Given the description of an element on the screen output the (x, y) to click on. 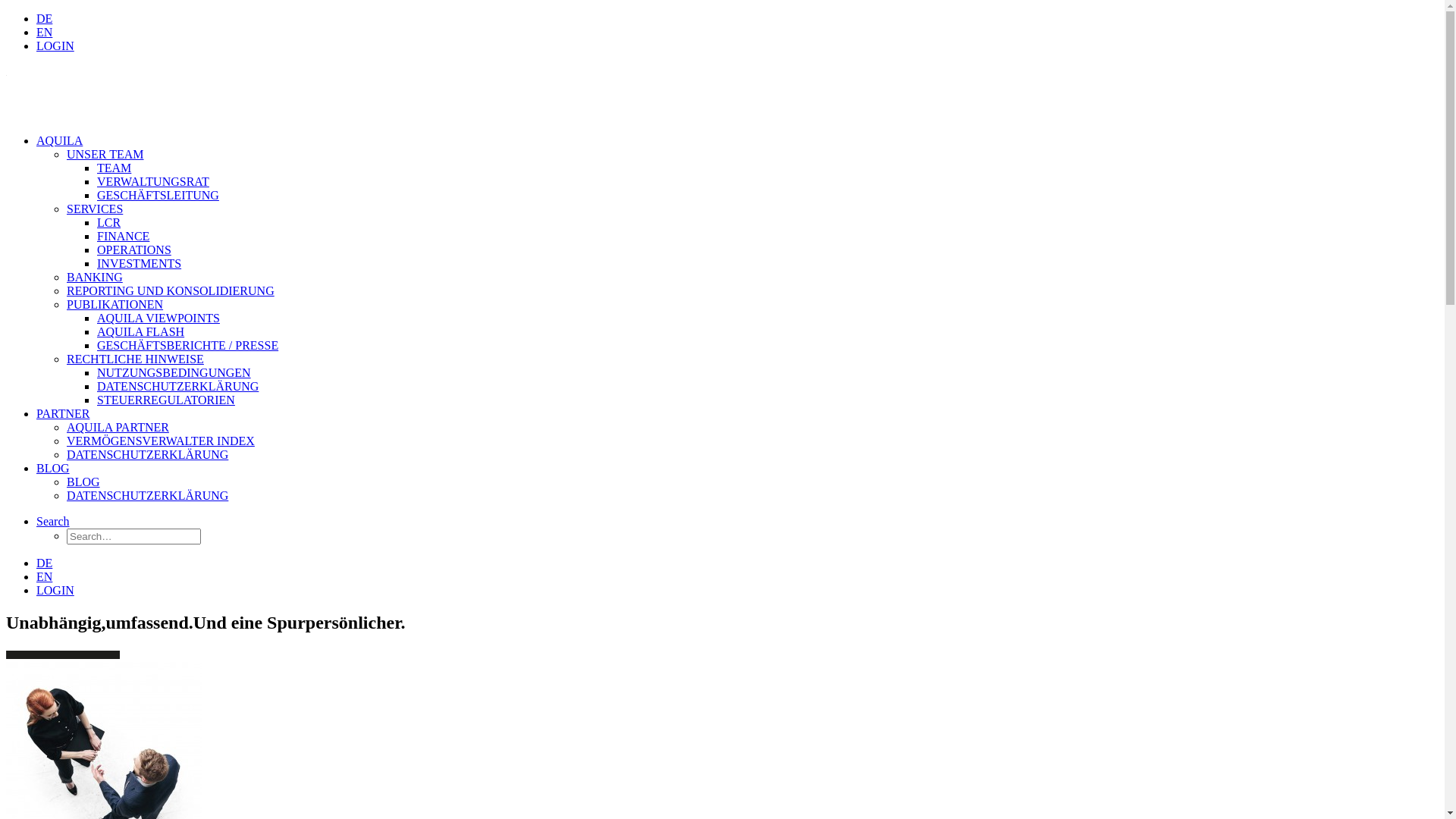
AQUILA FLASH Element type: text (140, 331)
Search for: Element type: hover (133, 536)
DE Element type: text (44, 18)
LCR Element type: text (108, 222)
FINANCE Element type: text (123, 235)
TEAM Element type: text (114, 167)
UNSER TEAM Element type: text (105, 153)
EN Element type: text (44, 576)
SERVICES Element type: text (94, 208)
REPORTING UND KONSOLIDIERUNG Element type: text (170, 290)
RECHTLICHE HINWEISE Element type: text (134, 358)
STEUERREGULATORIEN Element type: text (166, 399)
PUBLIKATIONEN Element type: text (114, 304)
DE Element type: text (44, 562)
EN Element type: text (44, 31)
AQUILA VIEWPOINTS Element type: text (158, 317)
BLOG Element type: text (83, 481)
NUTZUNGSBEDINGUNGEN Element type: text (174, 372)
AQUILA PARTNER Element type: text (117, 426)
LOGIN Element type: text (55, 589)
INVESTMENTS Element type: text (139, 263)
PARTNER Element type: text (62, 413)
Search Element type: text (52, 520)
LOGIN Element type: text (55, 45)
VERWALTUNGSRAT Element type: text (153, 181)
AQUILA Element type: text (59, 140)
BANKING Element type: text (94, 276)
BLOG Element type: text (52, 467)
OPERATIONS Element type: text (134, 249)
